Given the description of an element on the screen output the (x, y) to click on. 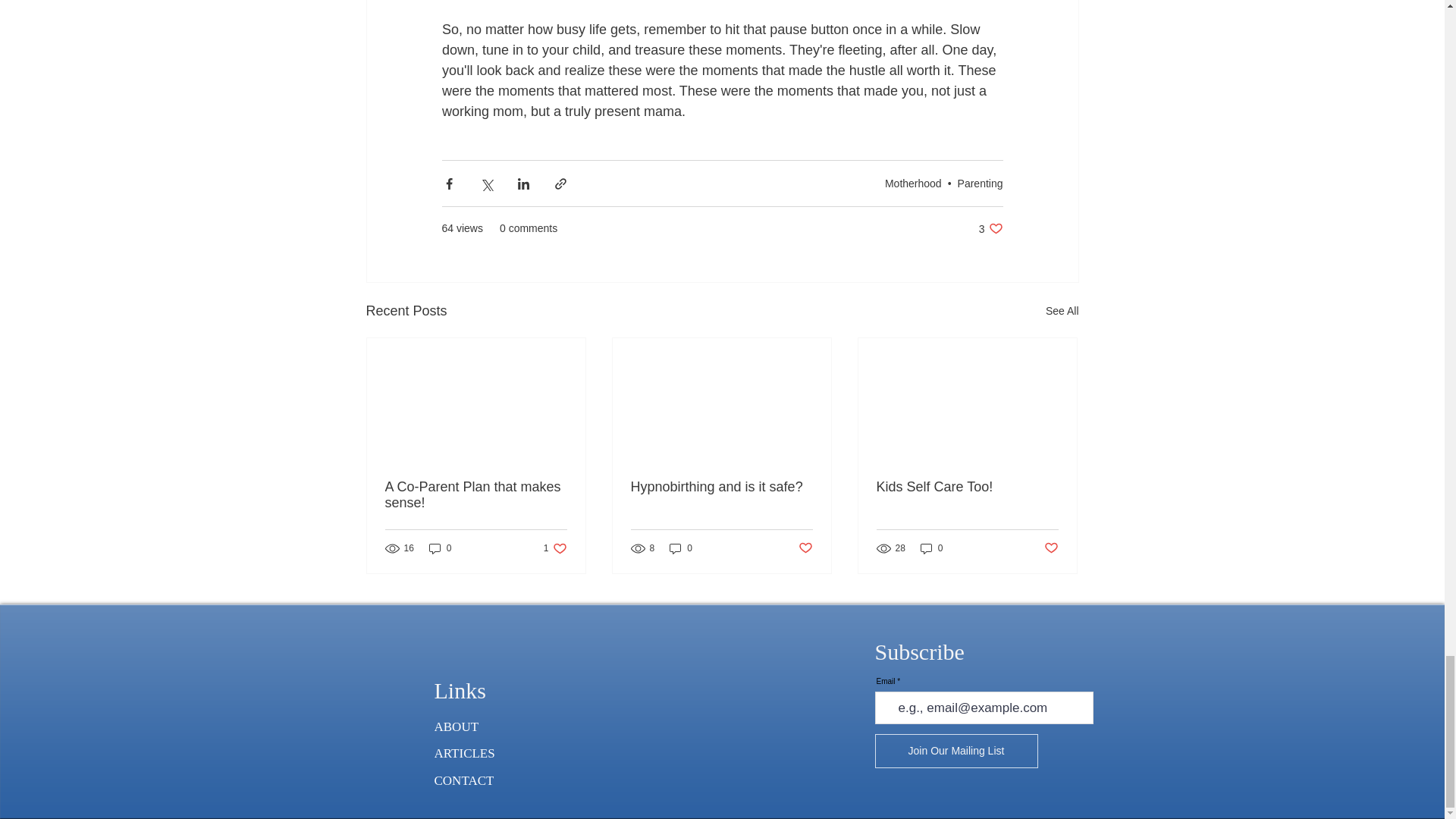
Parenting (980, 183)
0 (440, 548)
Post not marked as liked (804, 547)
See All (1061, 311)
0 (681, 548)
ARTICLES (476, 752)
0 (931, 548)
Post not marked as liked (1050, 547)
A Co-Parent Plan that makes sense! (476, 495)
Motherhood (990, 228)
Join Our Mailing List (555, 548)
Hypnobirthing and is it safe? (913, 183)
ABOUT (956, 750)
